Given the description of an element on the screen output the (x, y) to click on. 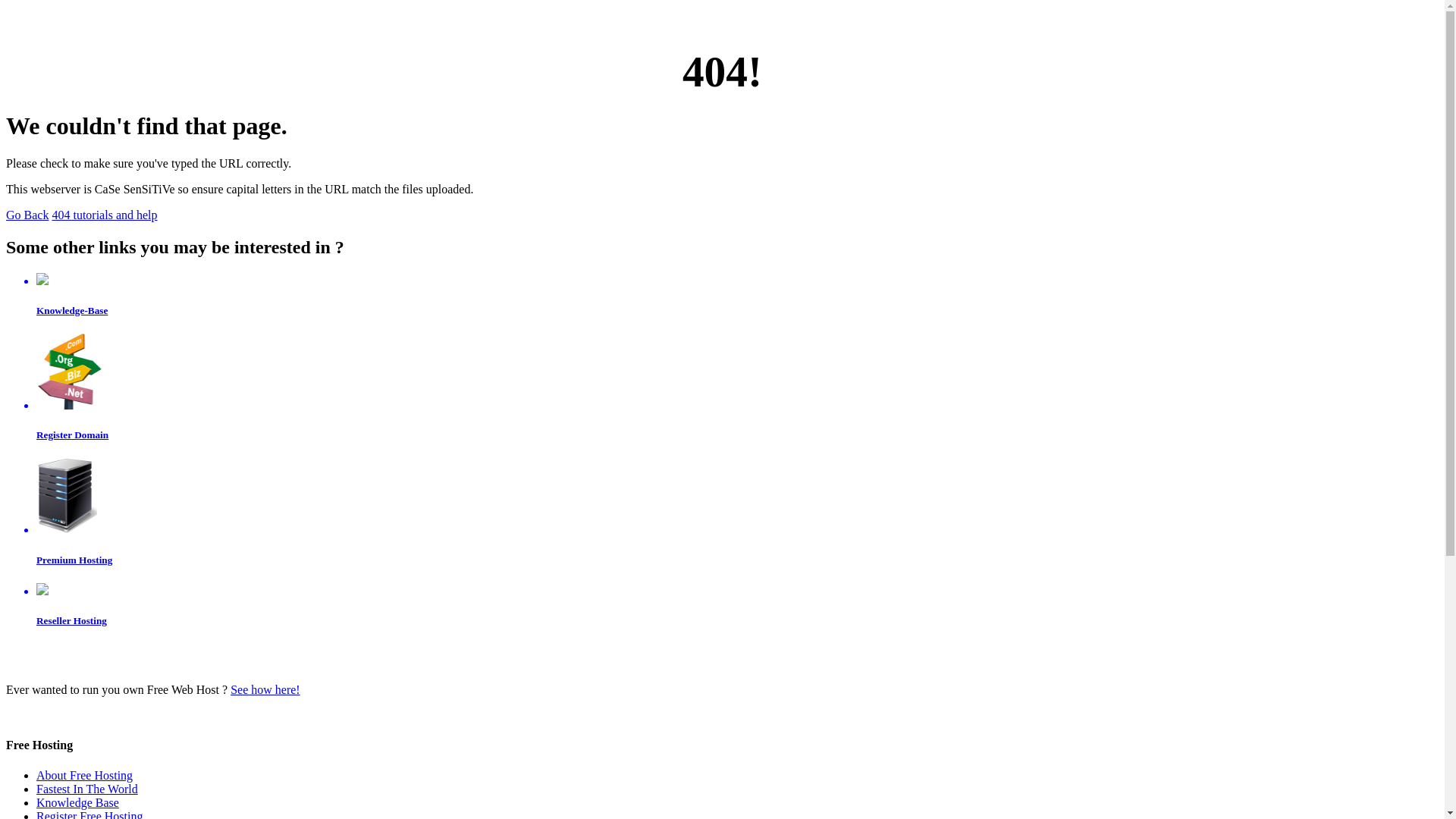
Register Domain Element type: text (737, 387)
Go Back Element type: text (27, 214)
See how here! Element type: text (265, 689)
Reseller Hosting Element type: text (737, 605)
Fastest In The World Element type: text (87, 788)
404 tutorials and help Element type: text (103, 214)
About Free Hosting Element type: text (84, 774)
Knowledge-Base Element type: text (737, 294)
Knowledge Base Element type: text (77, 802)
Premium Hosting Element type: text (737, 511)
